Given the description of an element on the screen output the (x, y) to click on. 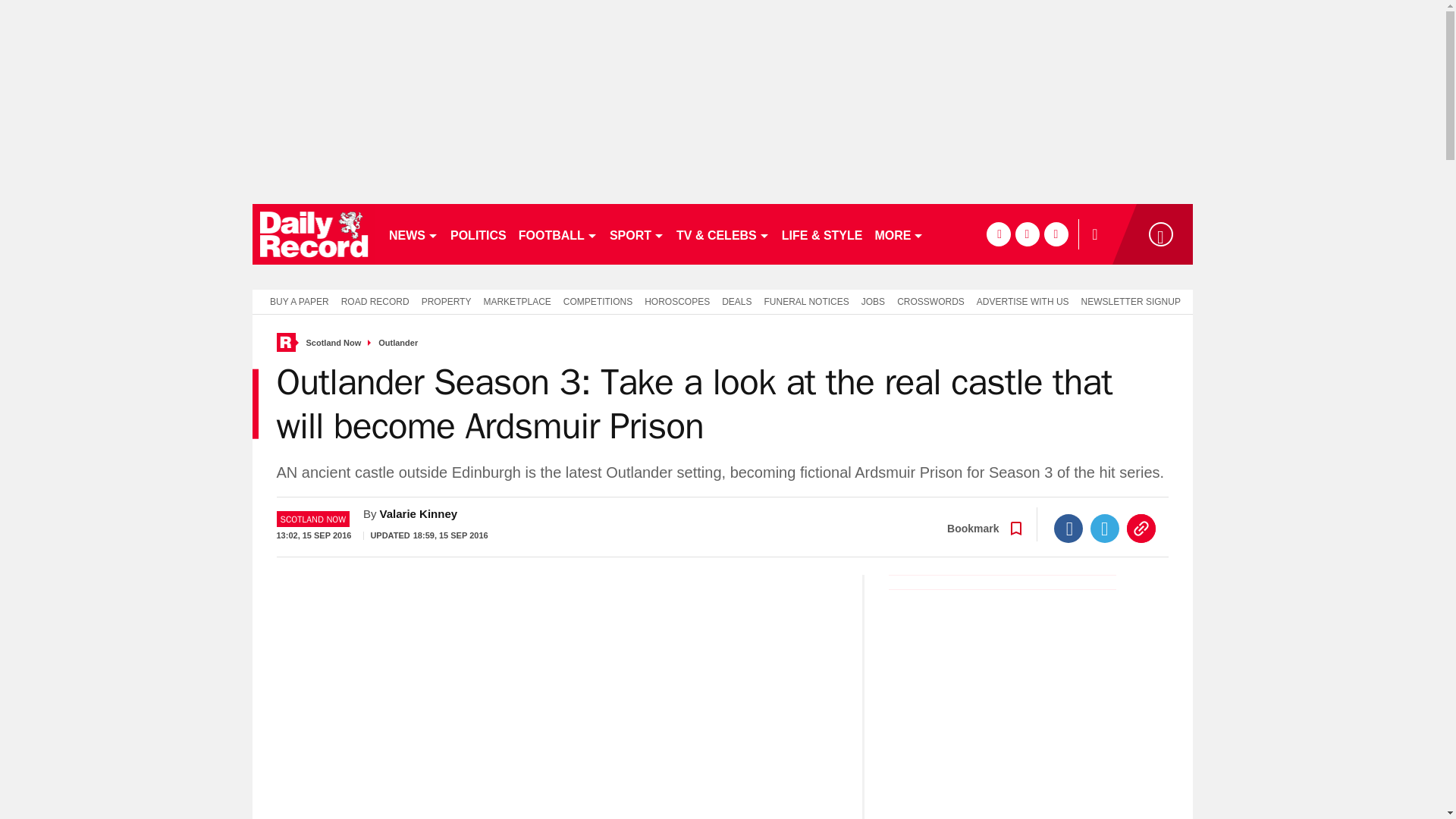
POLITICS (478, 233)
Twitter (1104, 528)
Facebook (1068, 528)
instagram (1055, 233)
FOOTBALL (558, 233)
twitter (1026, 233)
dailyrecord (313, 233)
SPORT (636, 233)
facebook (997, 233)
NEWS (413, 233)
